Given the description of an element on the screen output the (x, y) to click on. 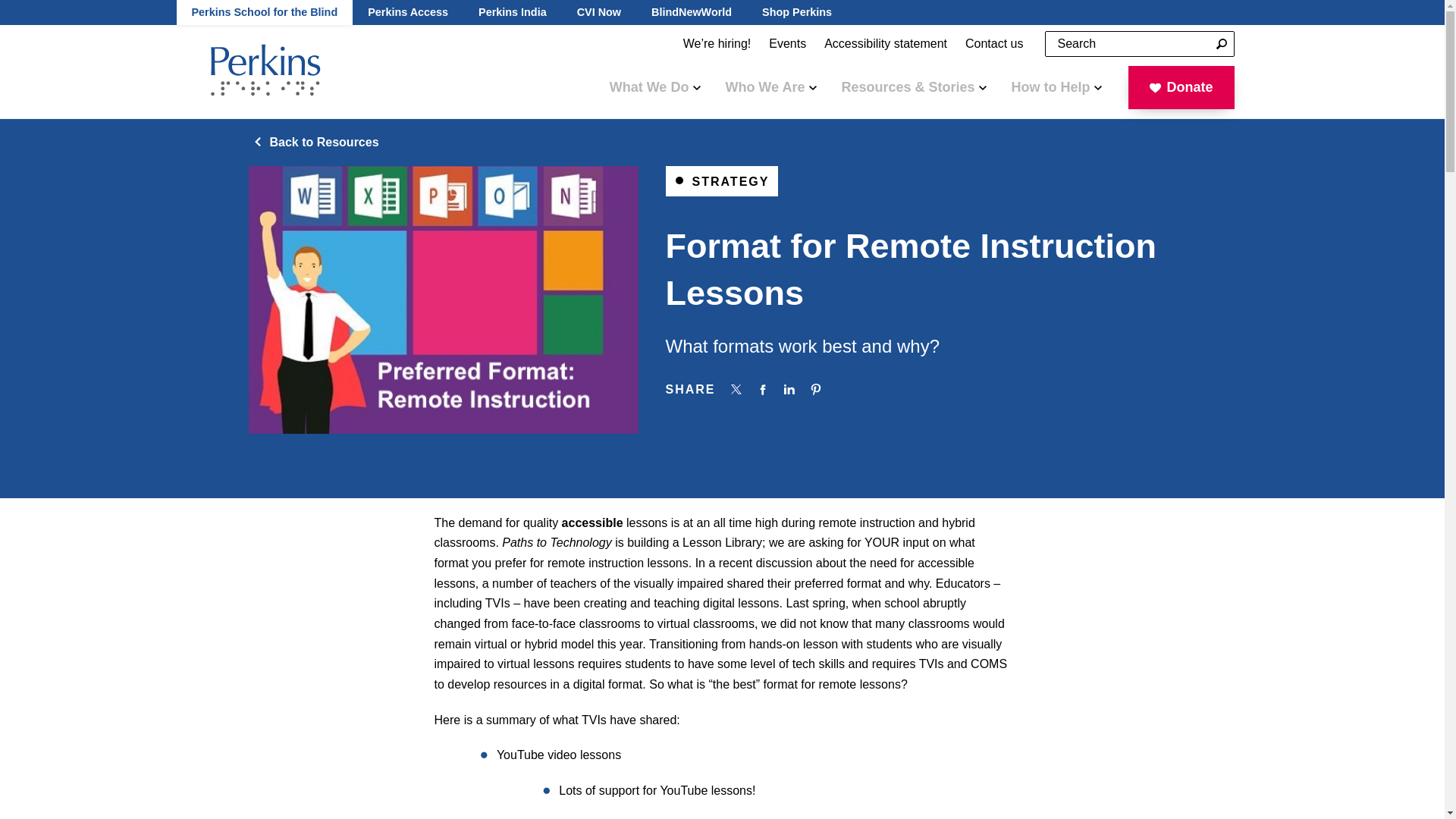
Search (1220, 43)
Perkins Access (407, 12)
Perkins India (512, 12)
Search (1220, 43)
Contact us (994, 43)
Accessibility statement (885, 43)
What We Do (654, 86)
CVI Now (599, 12)
Search (1220, 43)
BlindNewWorld (691, 12)
